Given the description of an element on the screen output the (x, y) to click on. 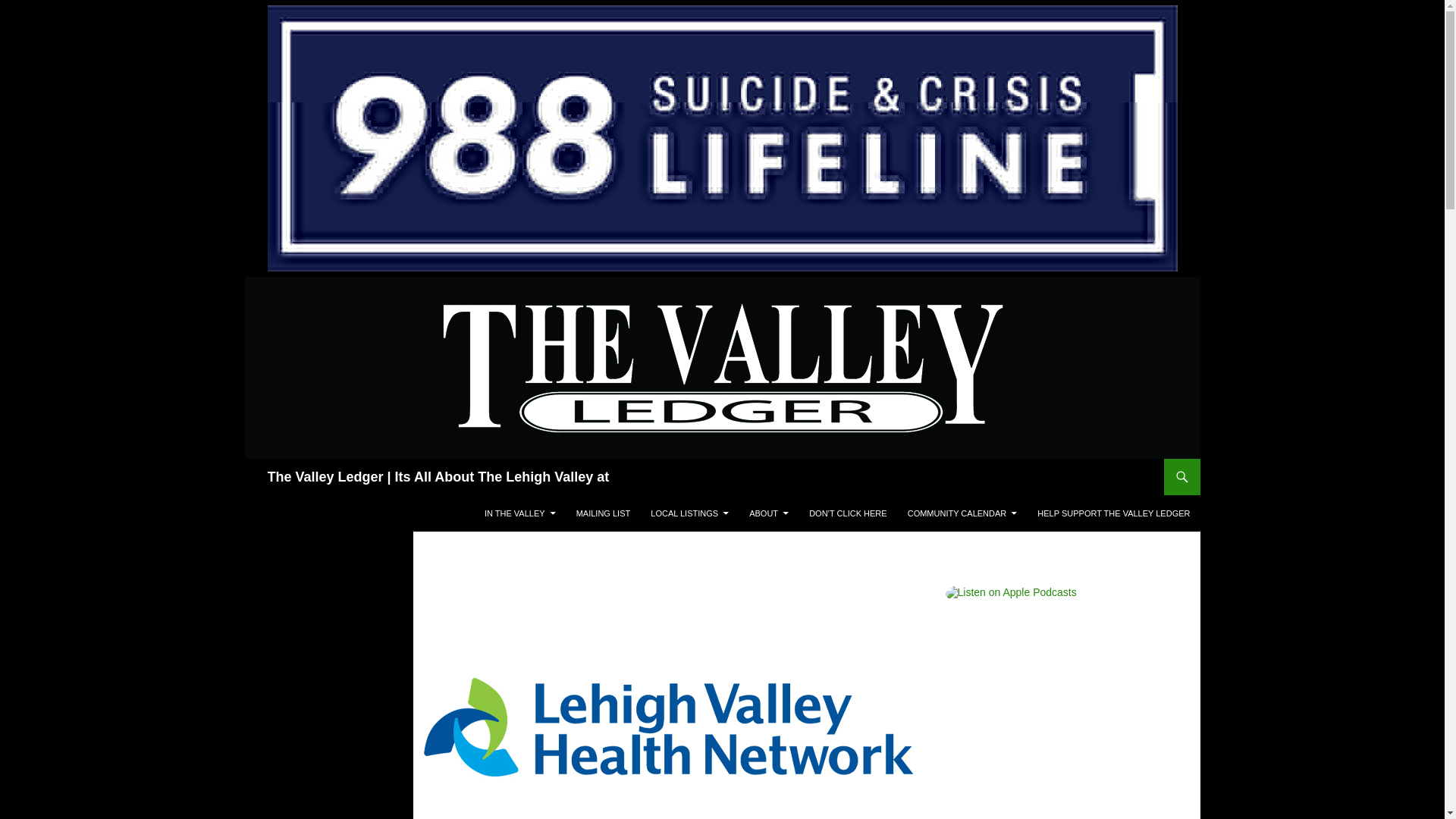
MAILING LIST (603, 513)
COMMUNITY CALENDAR (962, 513)
HELP SUPPORT THE VALLEY LEDGER (1112, 513)
IN THE VALLEY (520, 513)
LOCAL LISTINGS (690, 513)
ABOUT (768, 513)
